Given the description of an element on the screen output the (x, y) to click on. 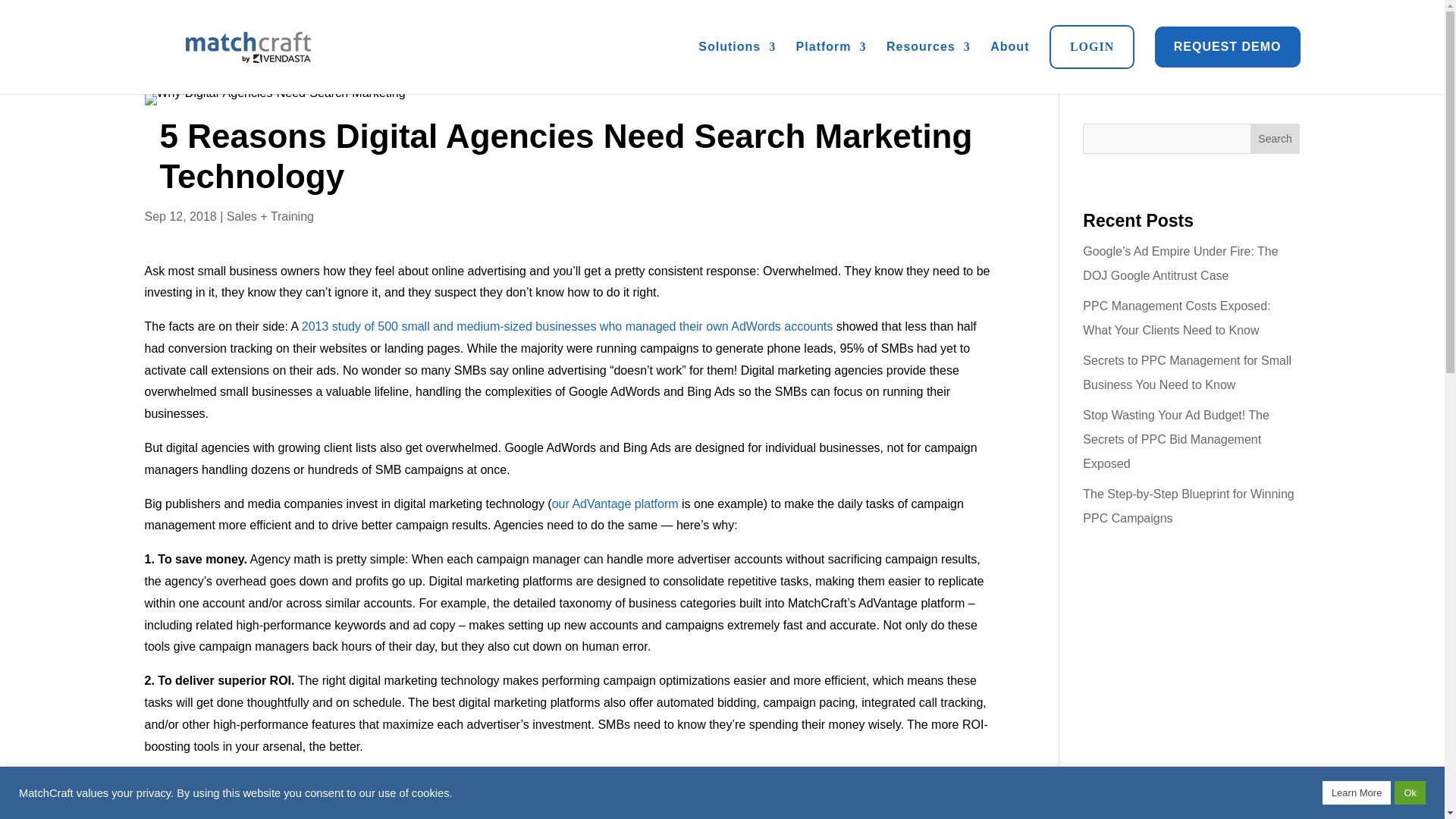
Platform (831, 46)
About (1009, 46)
Resources (928, 46)
Solutions (737, 46)
Why-Digital-Agencies-Need-Search-Marketing (274, 99)
our AdVantage platform (614, 503)
REQUEST DEMO (1227, 46)
LOGIN (1091, 46)
